Given the description of an element on the screen output the (x, y) to click on. 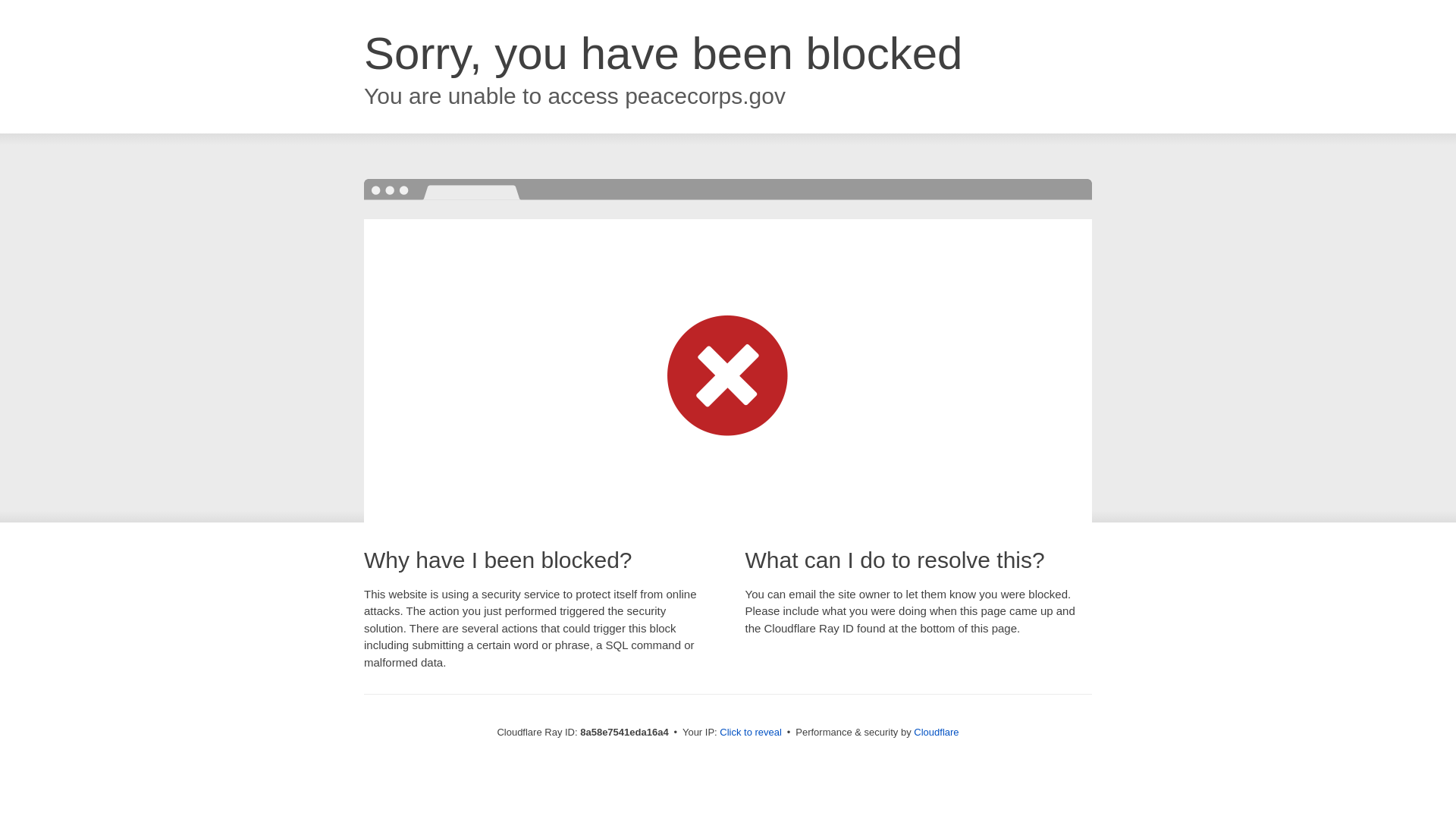
Cloudflare (936, 731)
Click to reveal (750, 732)
